Given the description of an element on the screen output the (x, y) to click on. 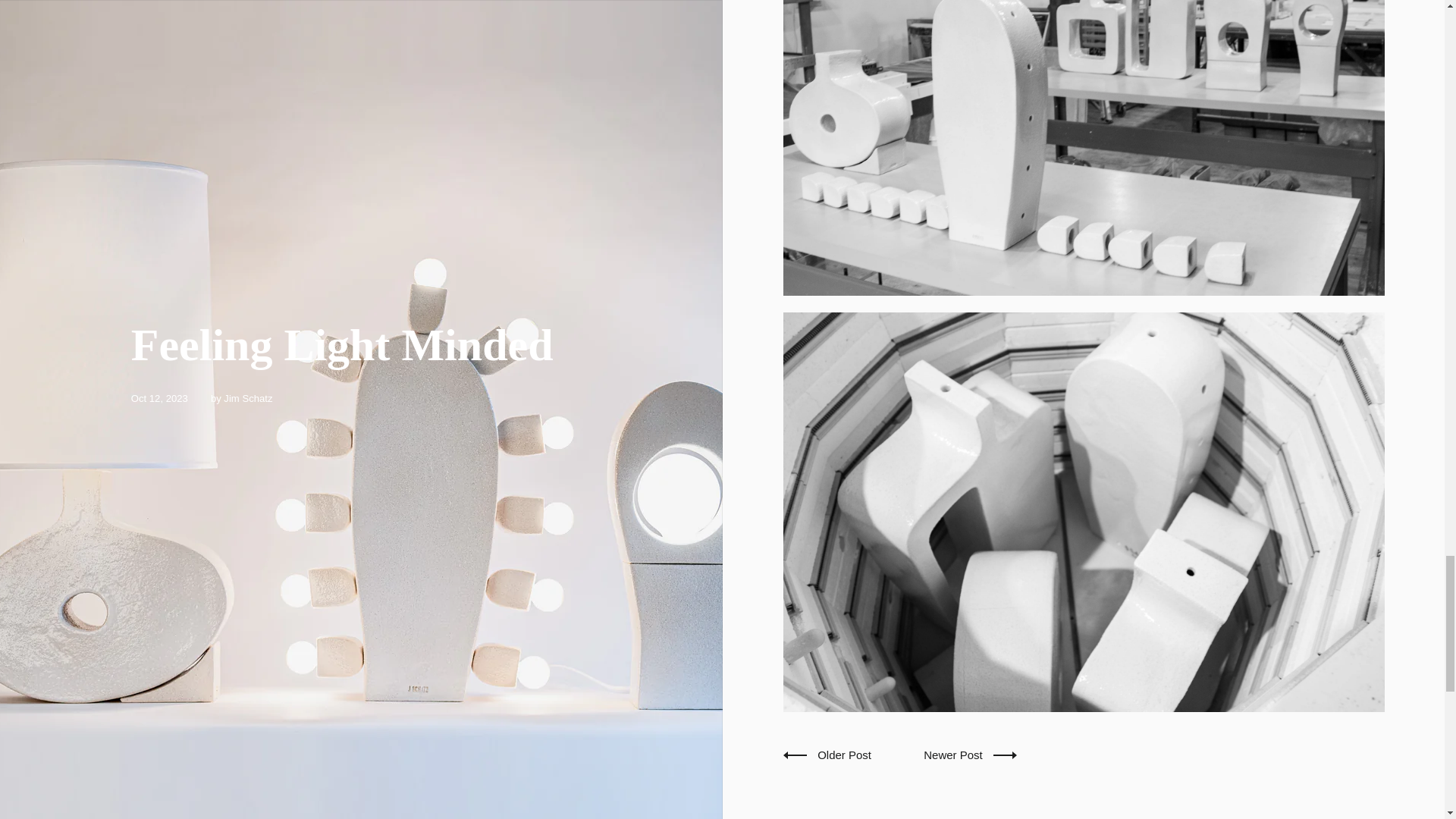
Newer Post (969, 755)
Older Post (829, 755)
